Given the description of an element on the screen output the (x, y) to click on. 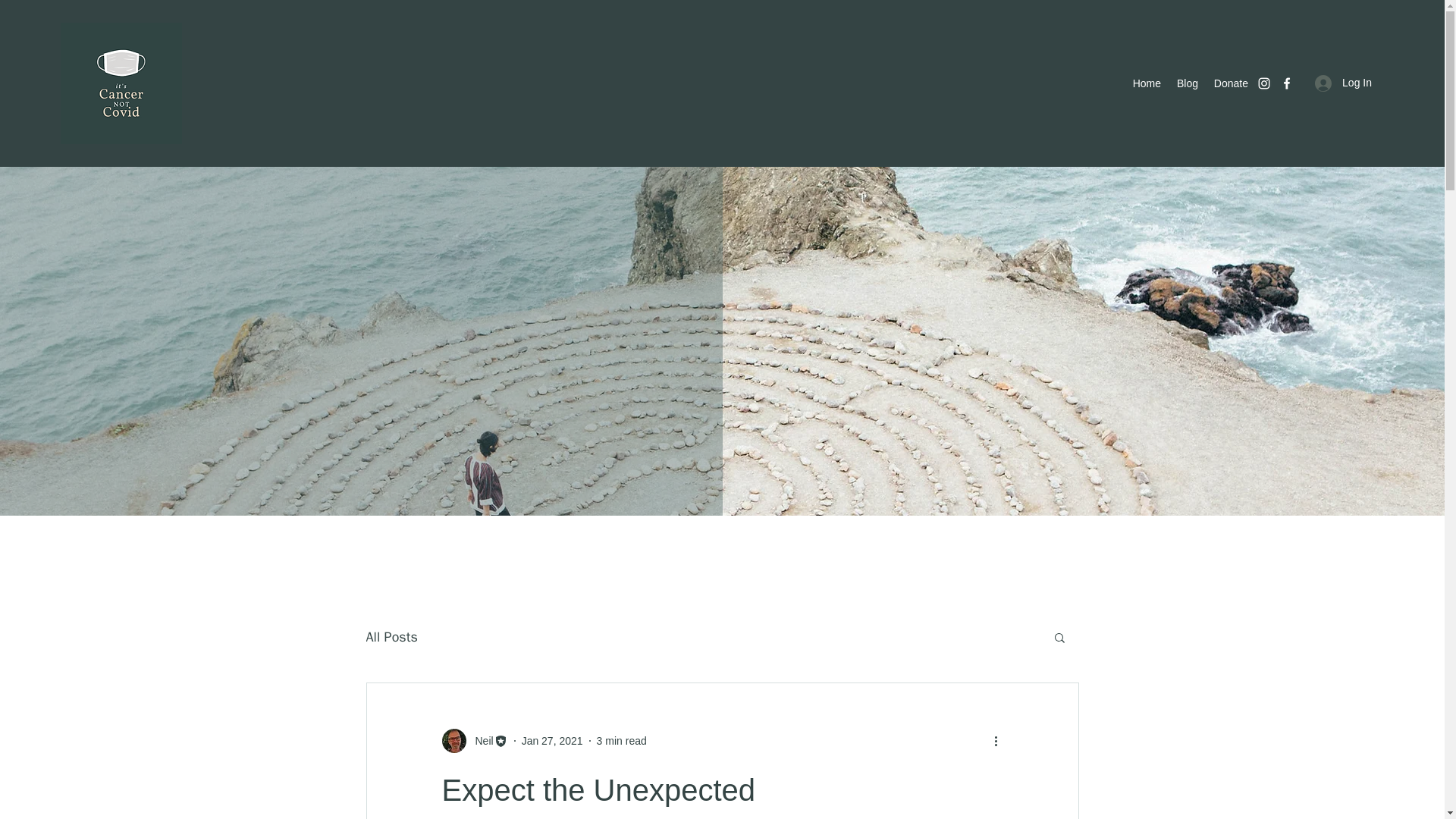
Blog (1187, 83)
All Posts (390, 637)
3 min read (621, 739)
Jan 27, 2021 (552, 739)
Neil (473, 740)
Neil  (479, 740)
Log In (1342, 82)
Donate (1230, 83)
Home (1146, 83)
